Given the description of an element on the screen output the (x, y) to click on. 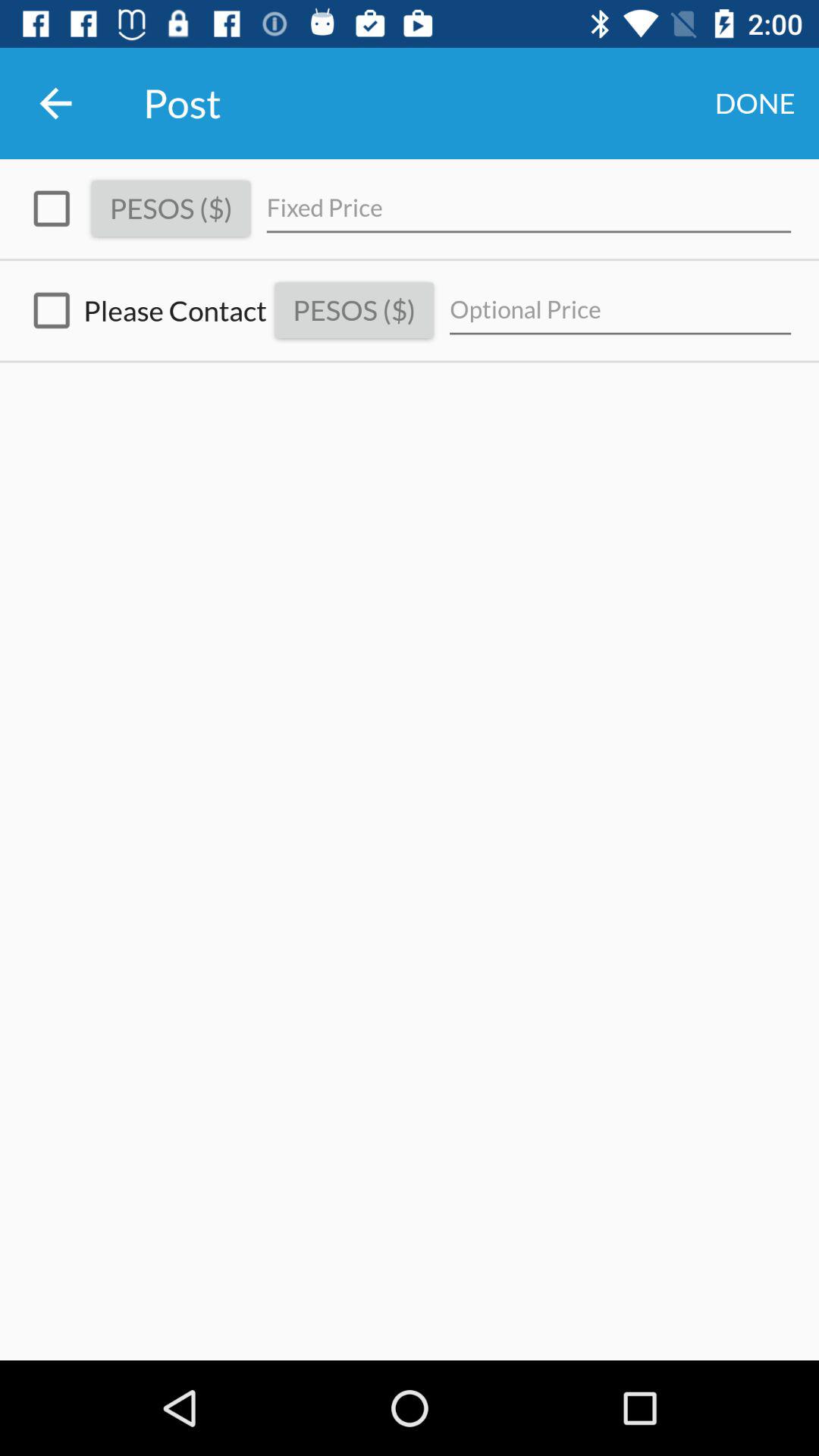
choose item to the right of pesos ($) item (528, 208)
